Given the description of an element on the screen output the (x, y) to click on. 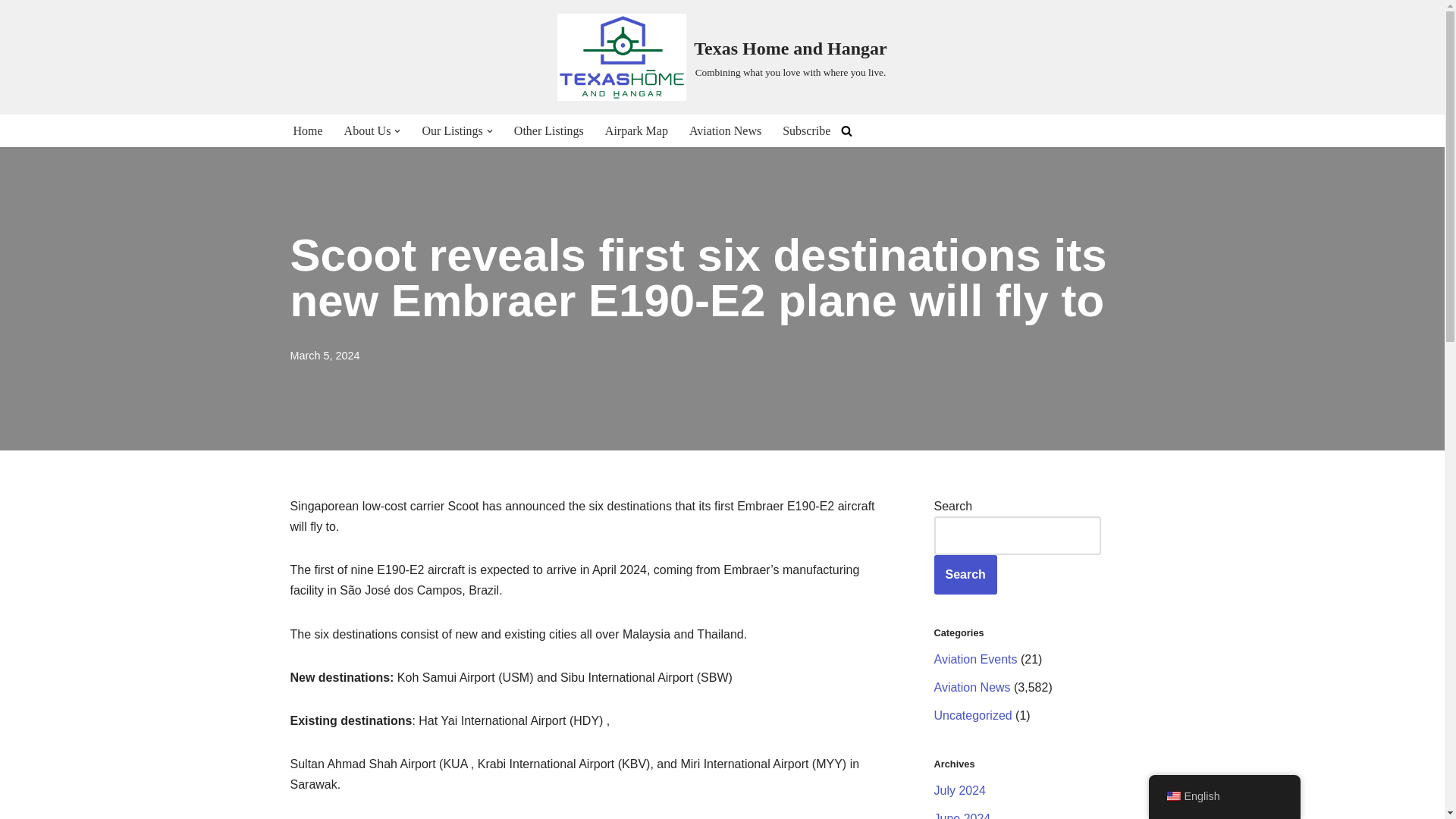
Our Listings (451, 130)
Aviation News (724, 130)
Other Listings (548, 130)
About Us (367, 130)
Skip to content (11, 31)
Subscribe (806, 130)
Airpark Map (636, 130)
English (1172, 795)
Home (306, 130)
